Given the description of an element on the screen output the (x, y) to click on. 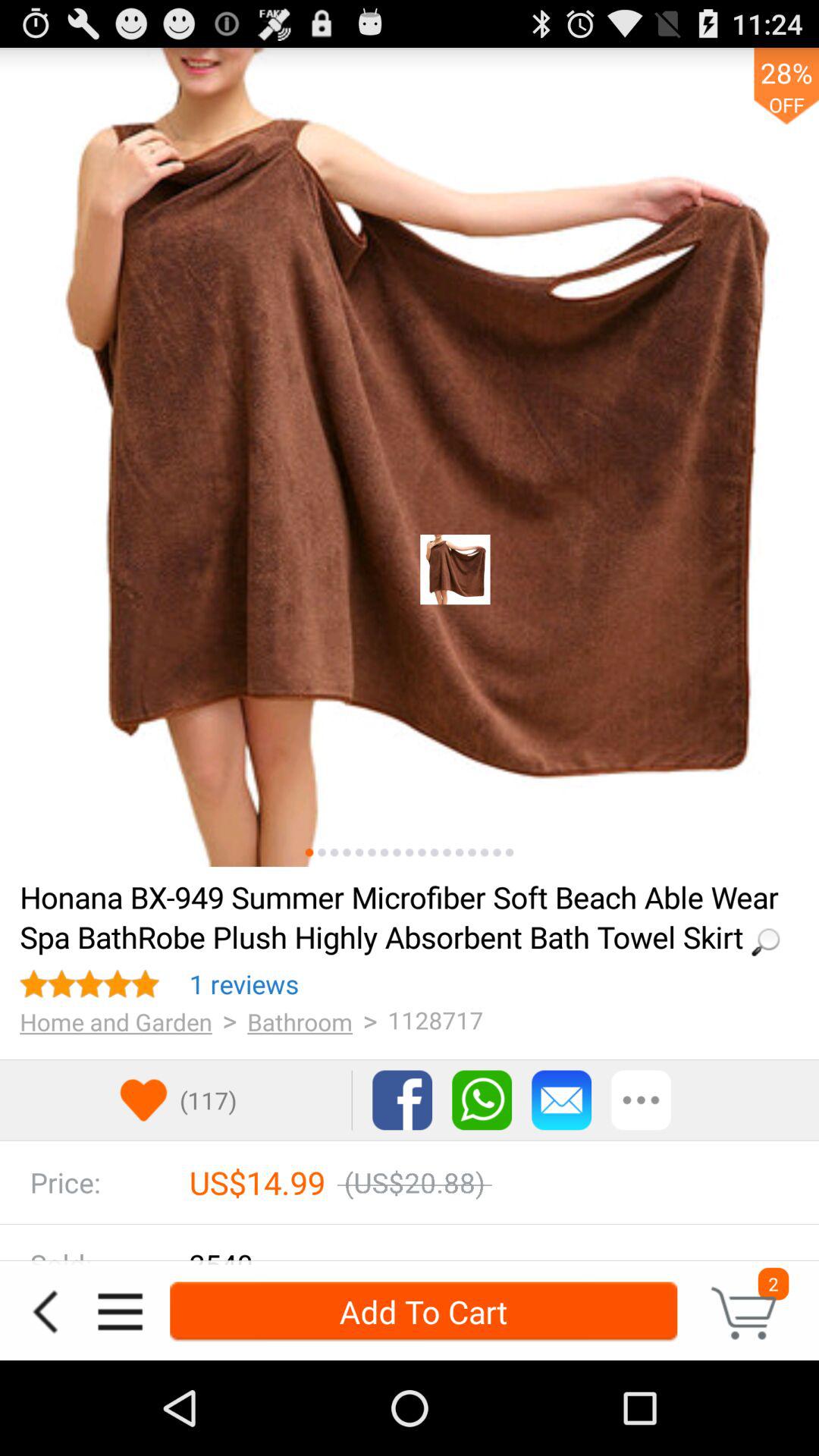
click the item below 1 reviews icon (115, 1021)
